Given the description of an element on the screen output the (x, y) to click on. 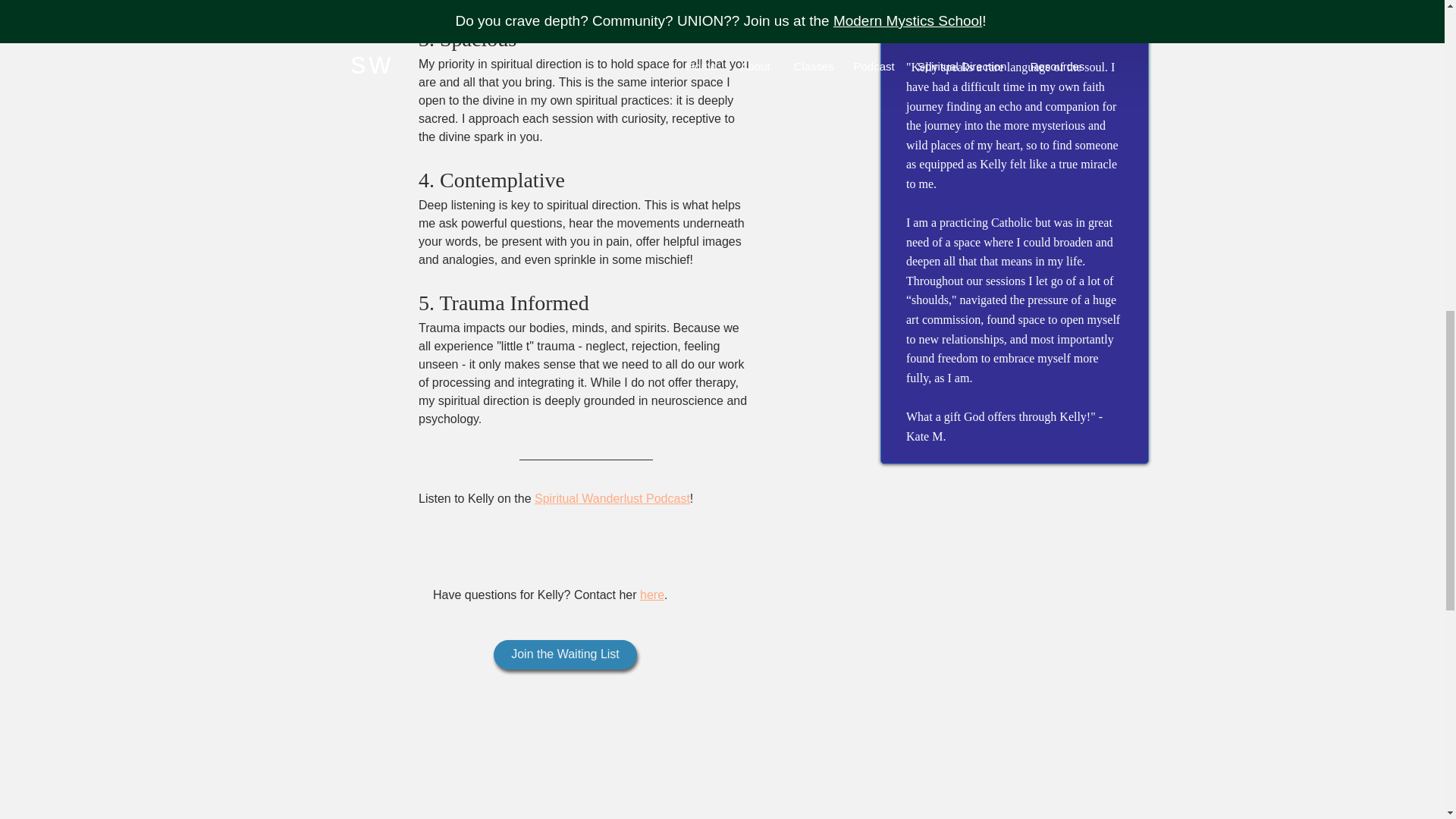
Join the Waiting List (565, 654)
here (651, 594)
Spiritual Wanderlust Podcast (612, 498)
